Given the description of an element on the screen output the (x, y) to click on. 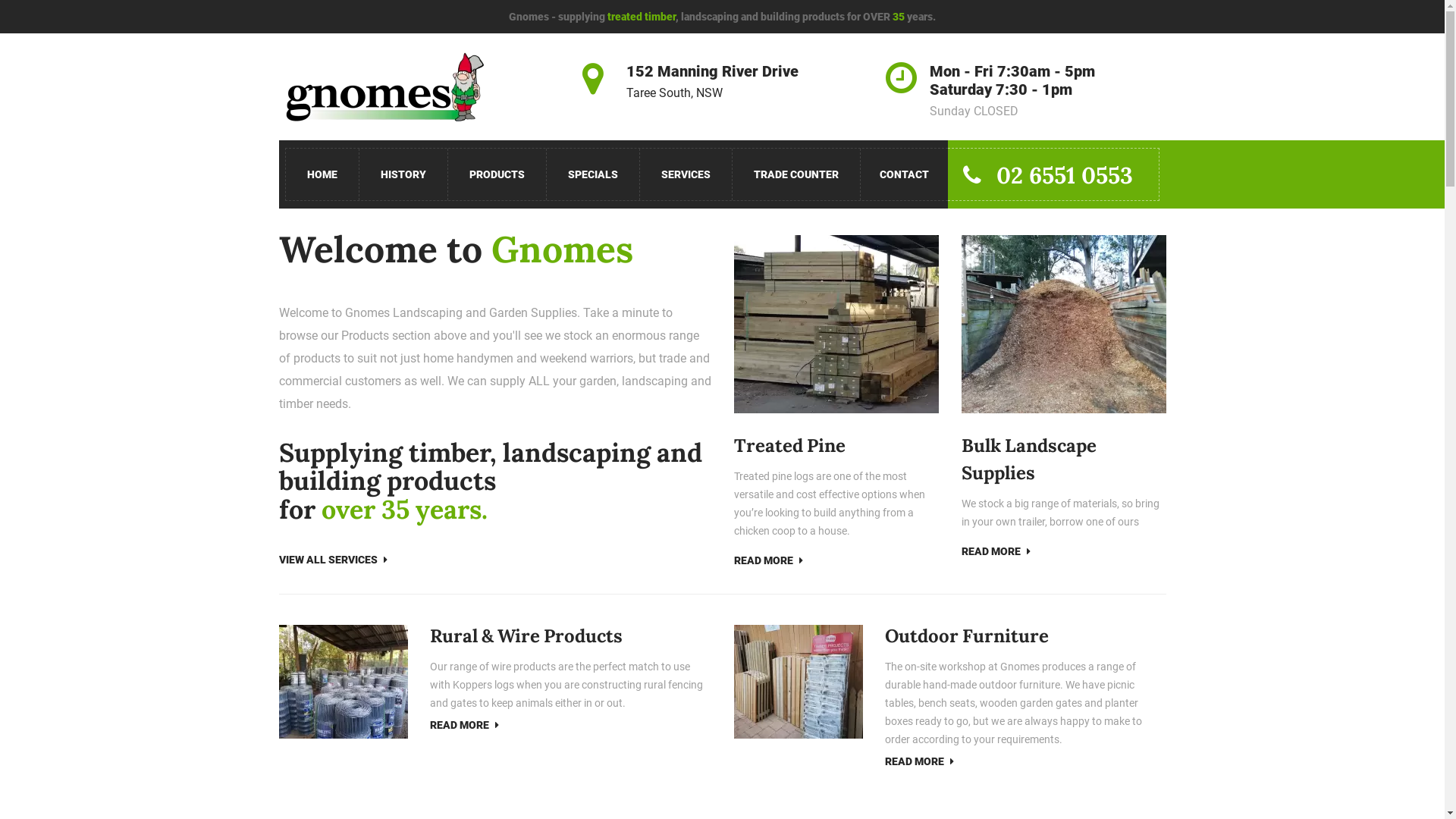
READ MORE Element type: text (768, 559)
TRADE COUNTER Element type: text (796, 174)
READ MORE Element type: text (918, 760)
02 6551 0553 Element type: text (1053, 173)
VIEW ALL SERVICES Element type: text (333, 559)
HOME Element type: text (321, 174)
HISTORY Element type: text (403, 174)
SPECIALS Element type: text (592, 174)
PRODUCTS Element type: text (496, 174)
152 Manning River Drive
Taree South, NSW Element type: text (712, 82)
CONTACT Element type: text (903, 174)
READ MORE Element type: text (463, 724)
READ MORE Element type: text (995, 550)
SERVICES Element type: text (686, 174)
